Given the description of an element on the screen output the (x, y) to click on. 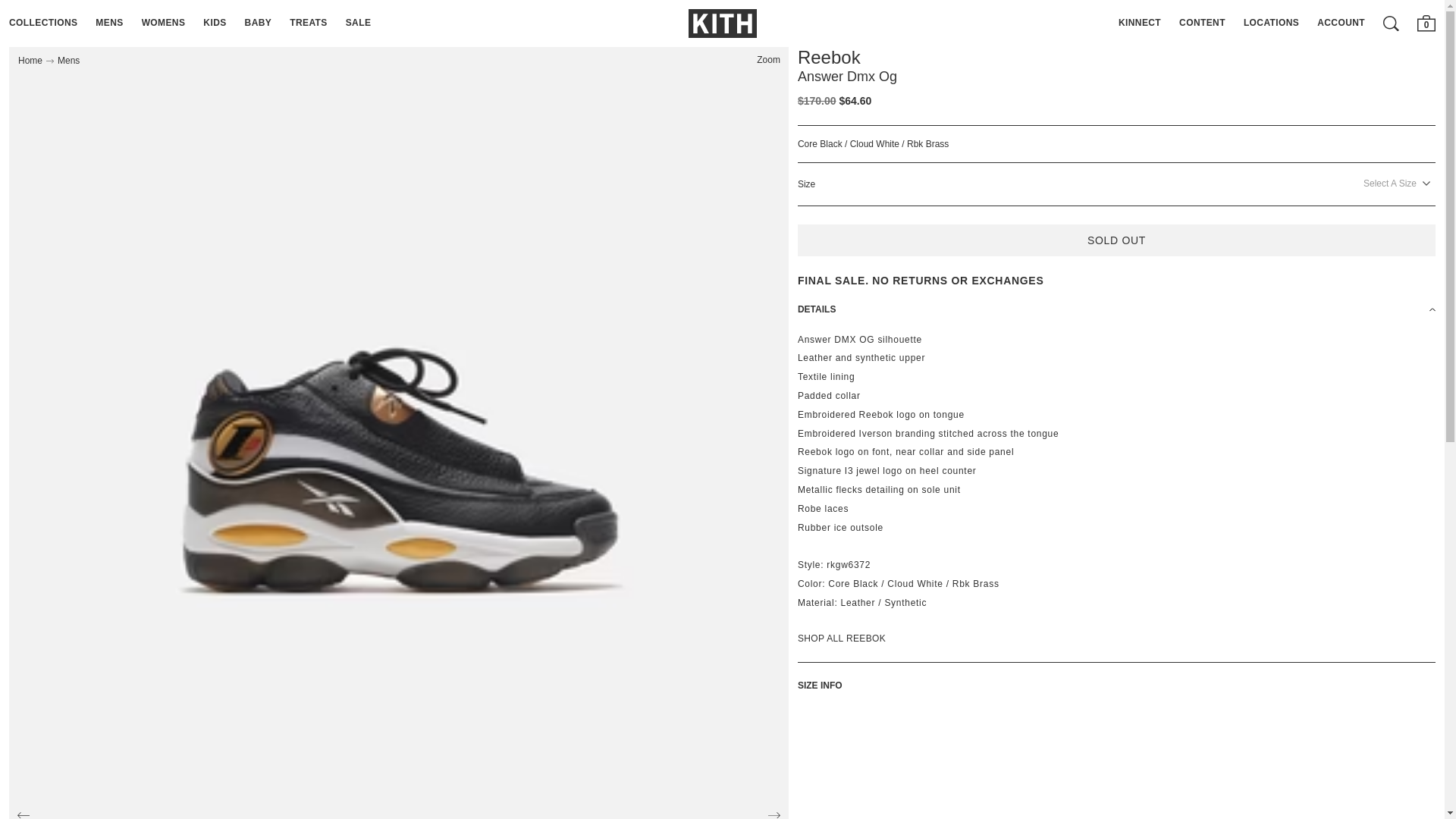
KITH LOGO (722, 23)
Kith (722, 23)
